Given the description of an element on the screen output the (x, y) to click on. 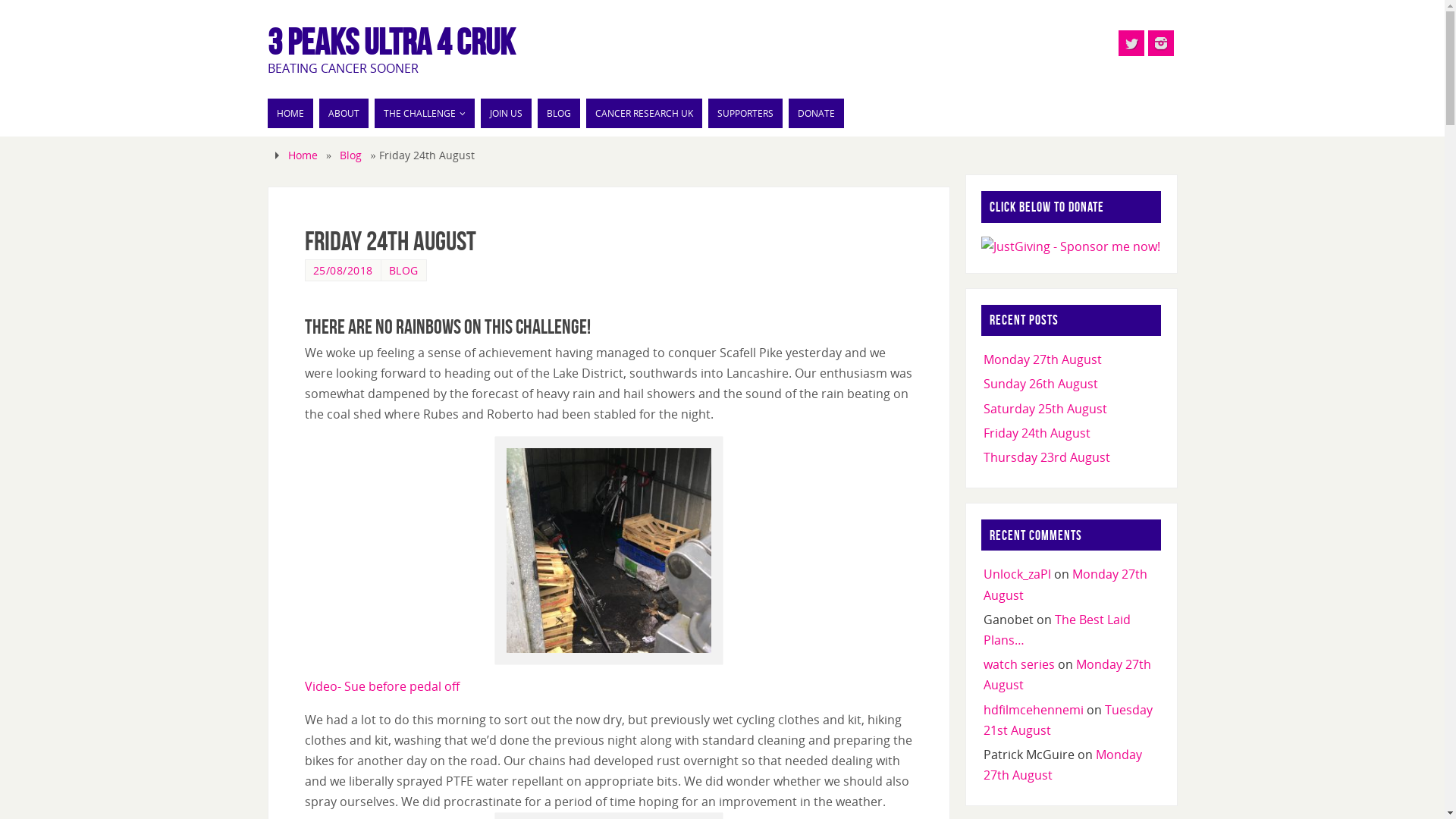
Twitter Element type: hover (1130, 43)
25/08/2018 Element type: text (342, 270)
Video- Sue before pedal off Element type: text (381, 685)
JOIN US Element type: text (505, 113)
Thursday 23rd August Element type: text (1046, 456)
Saturday 25th August Element type: text (1045, 408)
HOME Element type: text (289, 113)
ABOUT Element type: text (342, 113)
Sunday 26th August Element type: text (1040, 383)
Monday 27th August Element type: text (1067, 674)
JustGiving - Sponsor me now! Element type: hover (1070, 246)
CANCER RESEARCH UK Element type: text (643, 113)
Blog Element type: text (350, 154)
SUPPORTERS Element type: text (745, 113)
3 PEAKS ULTRA 4 CRUK Element type: text (390, 42)
Friday 24th August Element type: text (1036, 432)
Monday 27th August Element type: text (1042, 359)
Monday 27th August Element type: text (1062, 764)
THE CHALLENGE Element type: text (424, 113)
Monday 27th August Element type: text (1065, 583)
watch series Element type: text (1018, 663)
DONATE Element type: text (816, 113)
BLOG Element type: text (557, 113)
Unlock_zaPl Element type: text (1017, 573)
hdfilmcehennemi Element type: text (1033, 709)
BLOG Element type: text (402, 270)
Instagram Element type: hover (1160, 43)
Home Element type: text (302, 154)
Tuesday 21st August Element type: text (1067, 719)
